Given the description of an element on the screen output the (x, y) to click on. 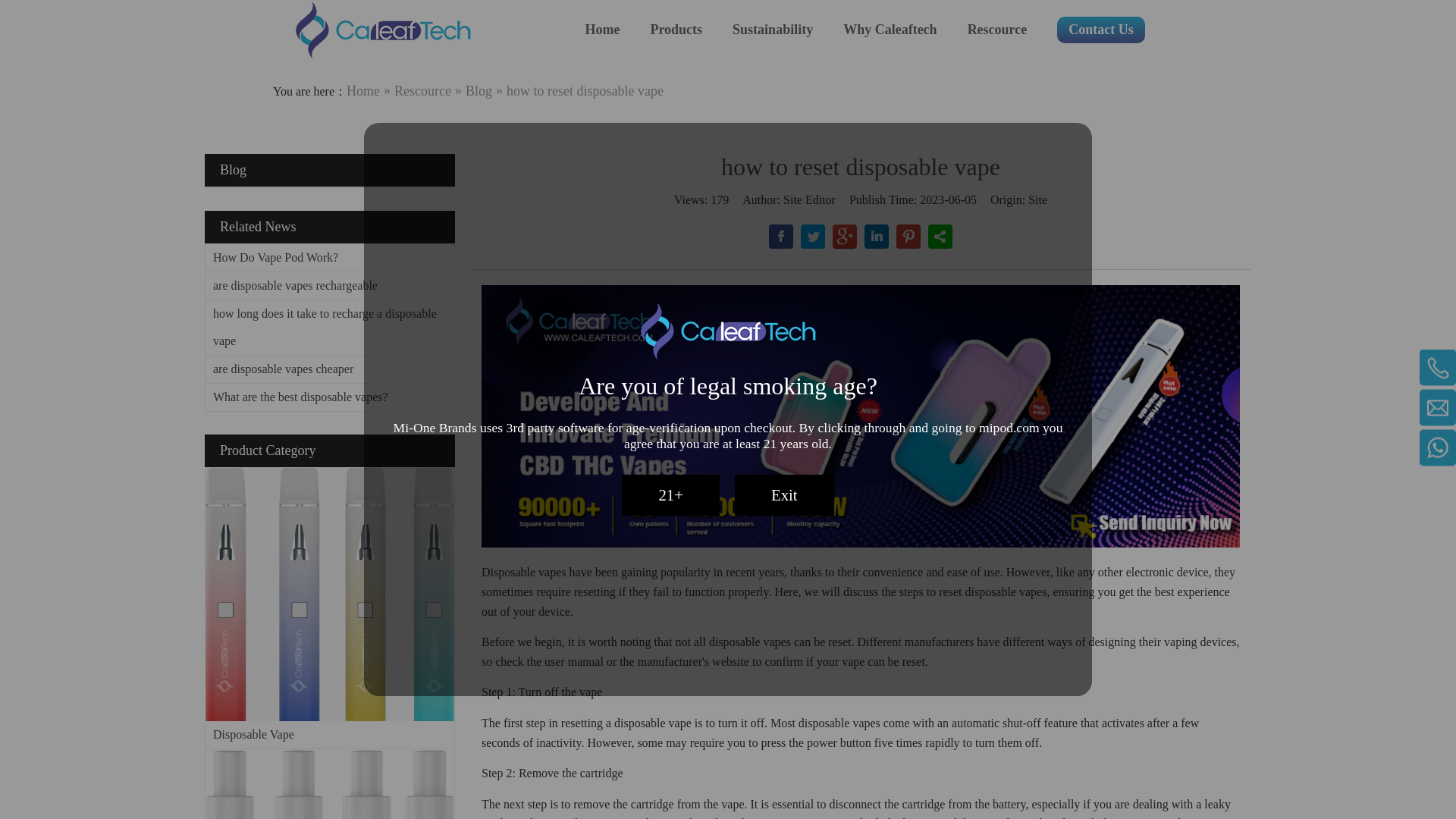
Rescource (997, 30)
Caleaftech (382, 30)
Products (675, 30)
Contact Us (1100, 29)
Why Caleaftech (889, 30)
Vape Cartridge (329, 784)
Sustainability (772, 30)
Disposable Vape (329, 593)
Home (602, 30)
